Given the description of an element on the screen output the (x, y) to click on. 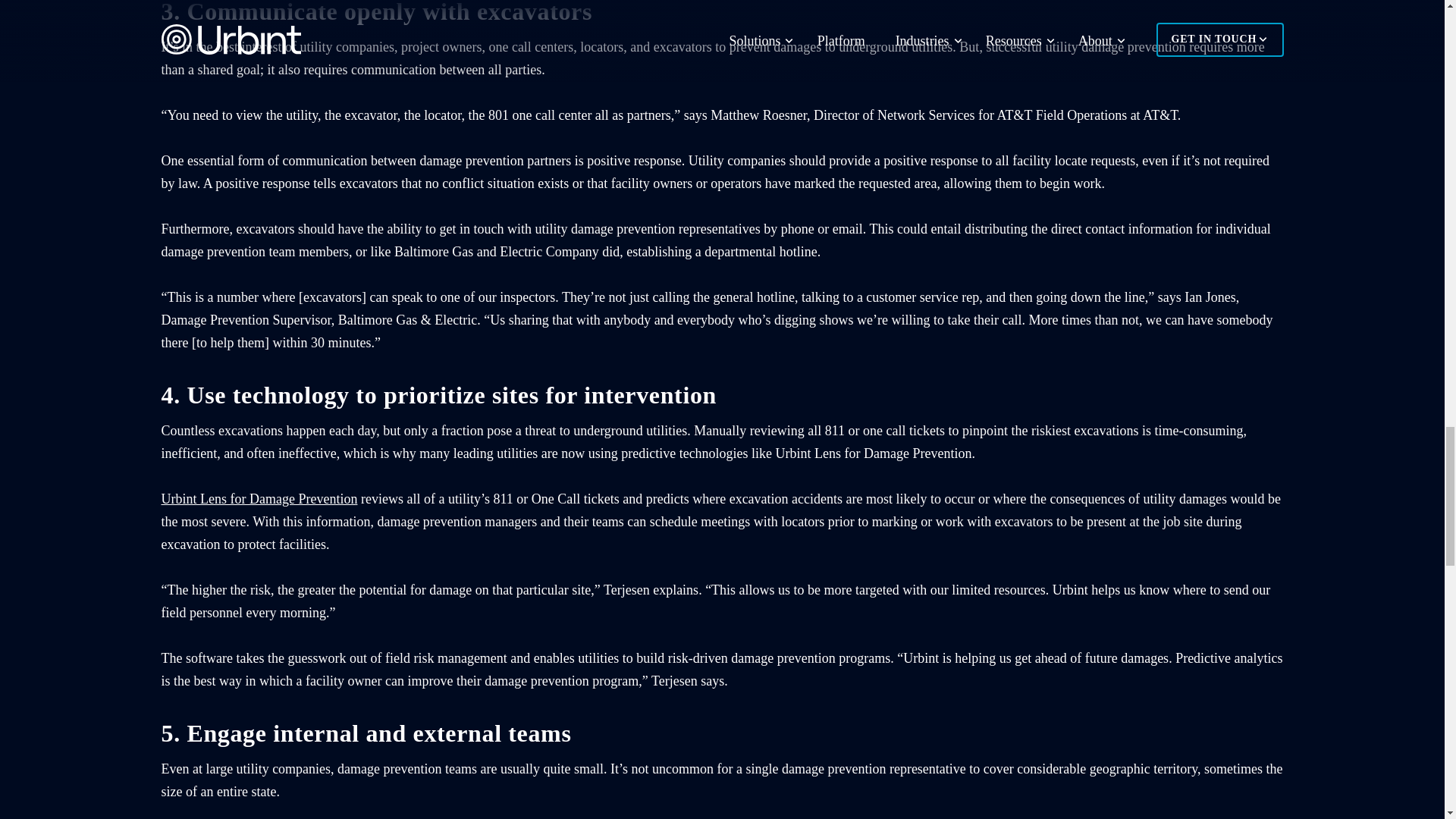
Urbint Lens for Damage Prevention (258, 498)
